Given the description of an element on the screen output the (x, y) to click on. 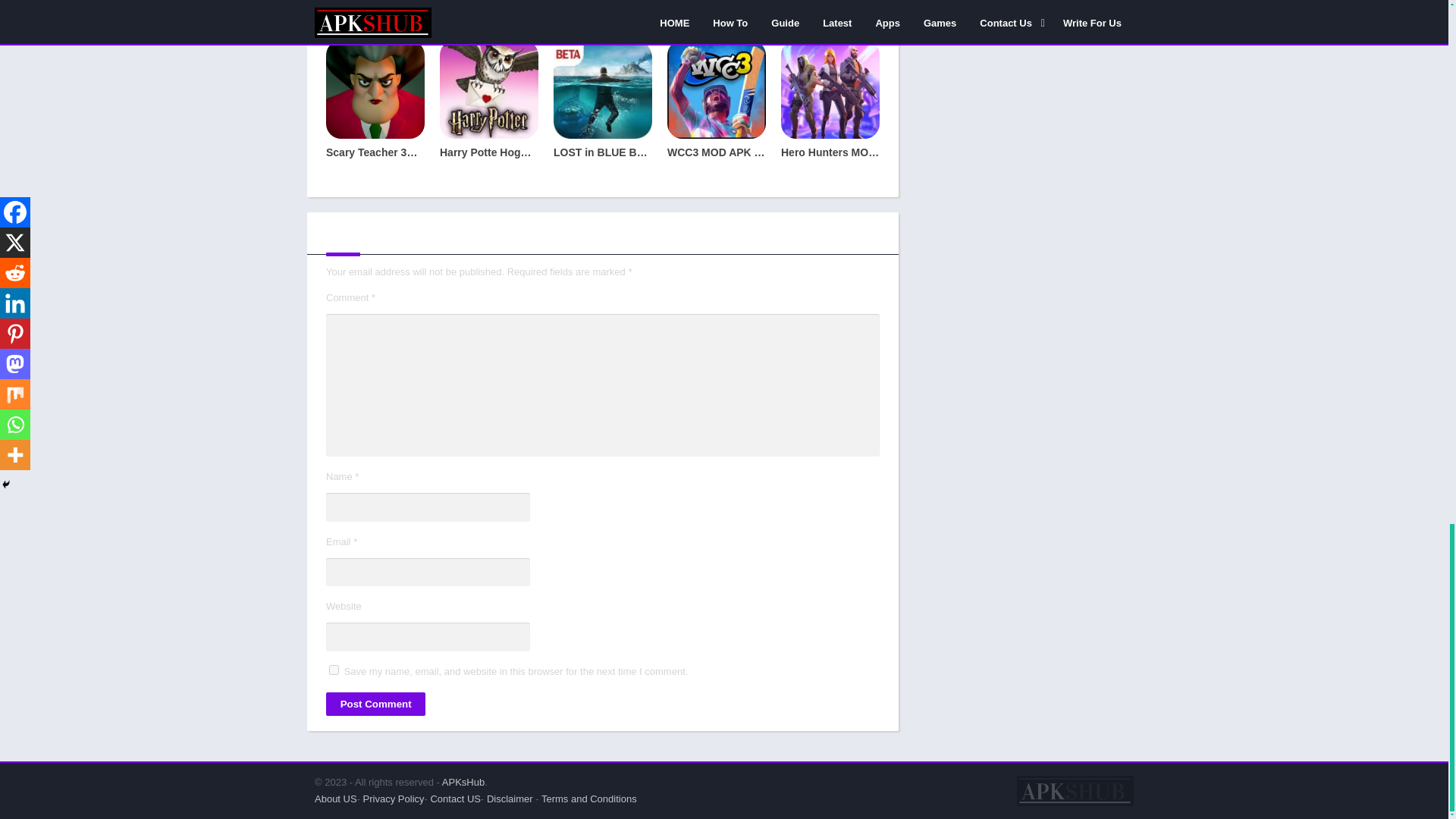
Post Comment (375, 703)
yes (334, 669)
